Given the description of an element on the screen output the (x, y) to click on. 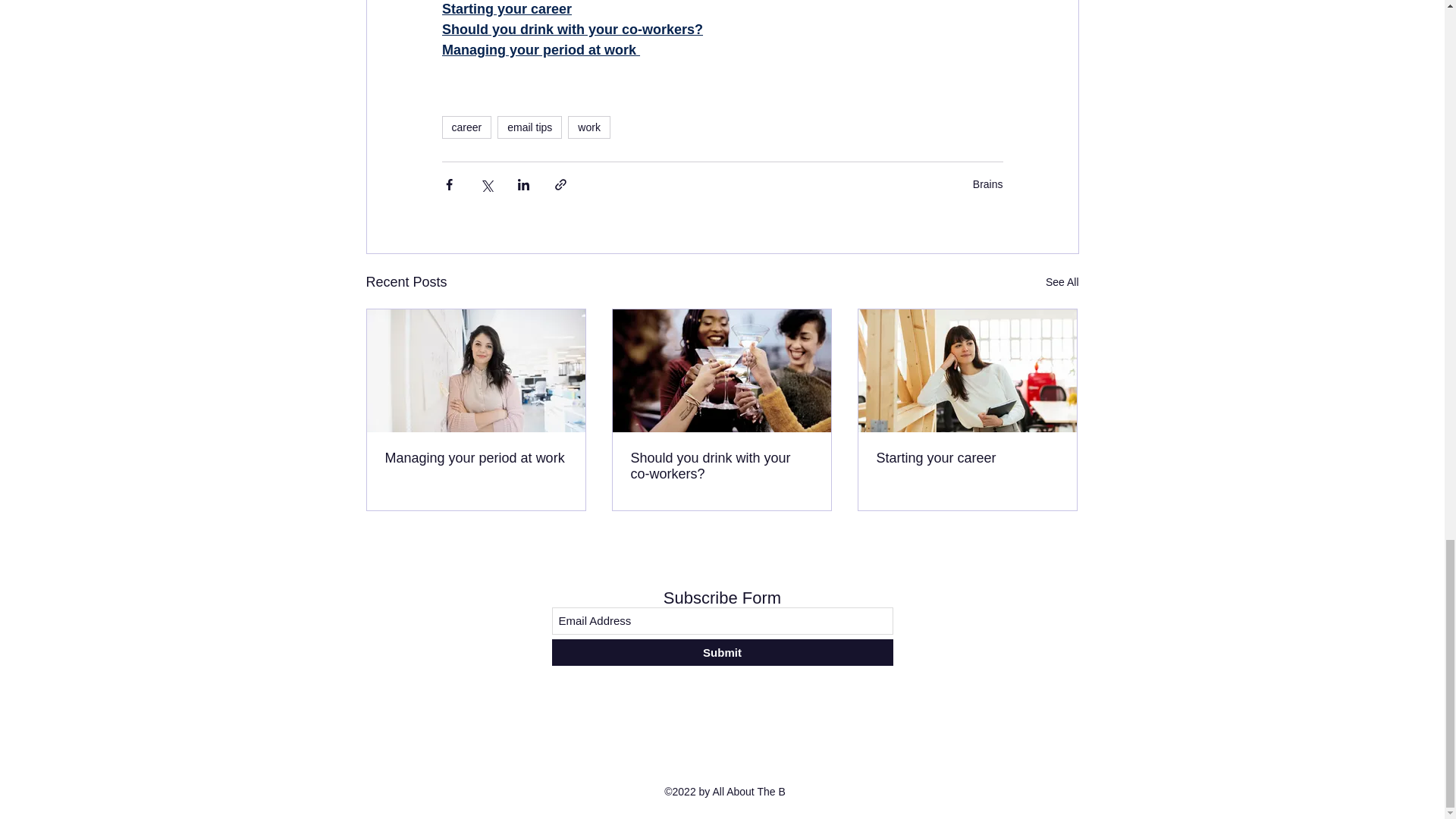
Should you drink with your co-workers? (571, 29)
Starting your career (505, 8)
Brains (987, 184)
Starting your career (967, 458)
email tips (529, 127)
career (466, 127)
Managing your period at work (476, 458)
See All (1061, 282)
Should you drink with your co-workers? (721, 466)
Submit (722, 652)
